Given the description of an element on the screen output the (x, y) to click on. 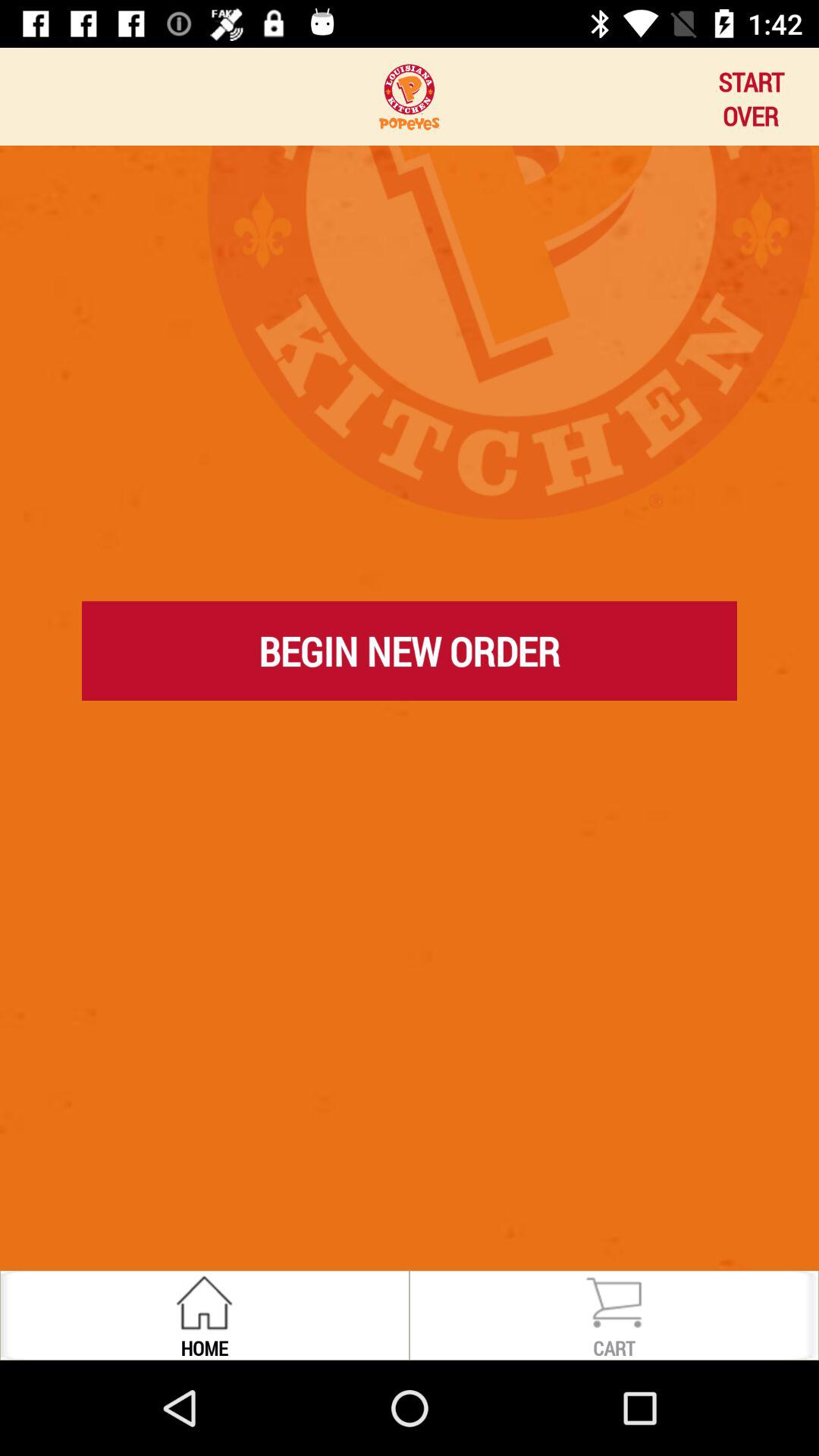
press begin new order (409, 650)
